Given the description of an element on the screen output the (x, y) to click on. 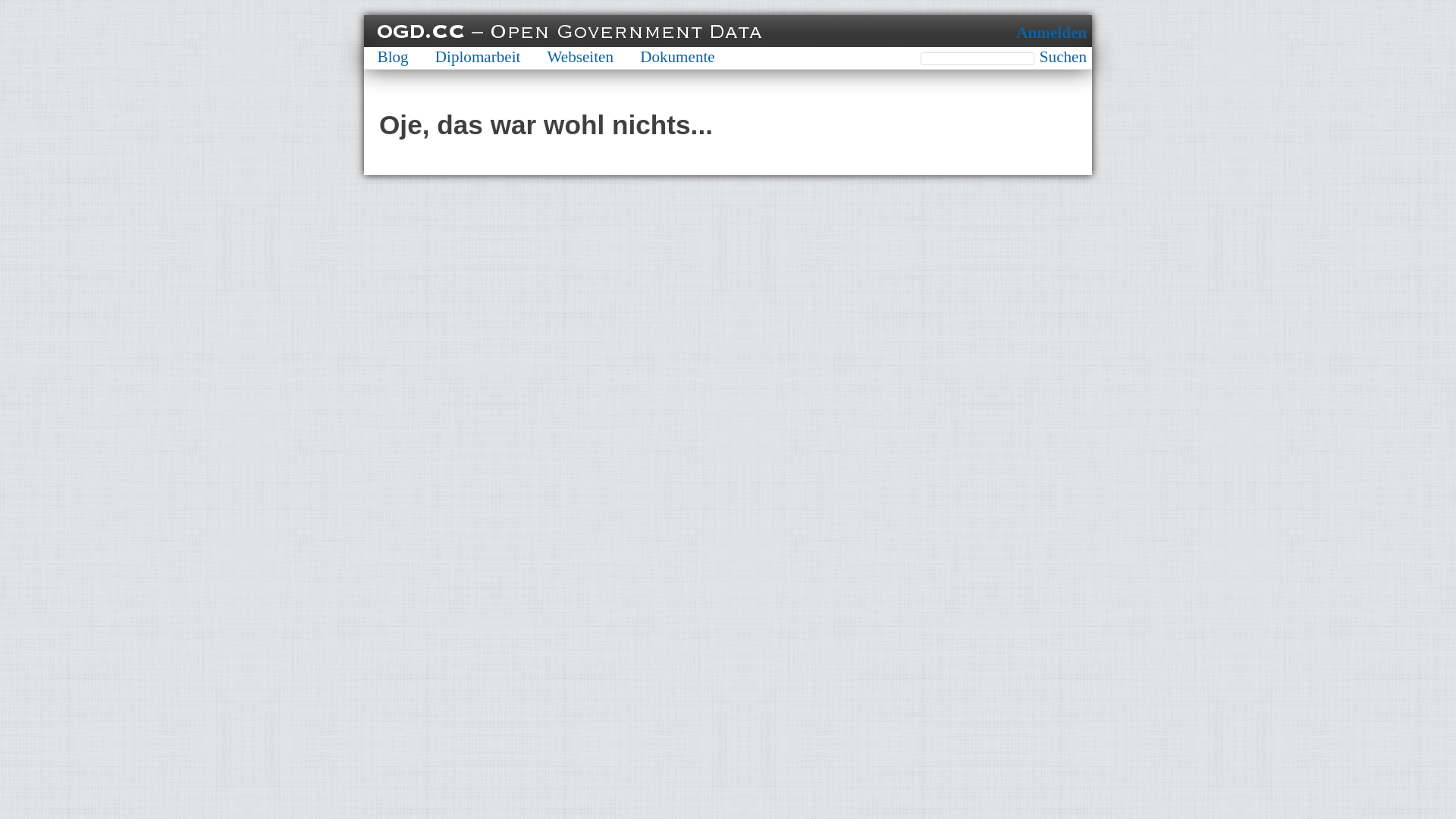
Webseiten Element type: text (580, 56)
Blog Element type: text (392, 56)
Diplomarbeit Element type: text (477, 56)
Suchen Element type: text (1063, 58)
Dokumente Element type: text (677, 56)
Anmelden Element type: text (1051, 32)
